Given the description of an element on the screen output the (x, y) to click on. 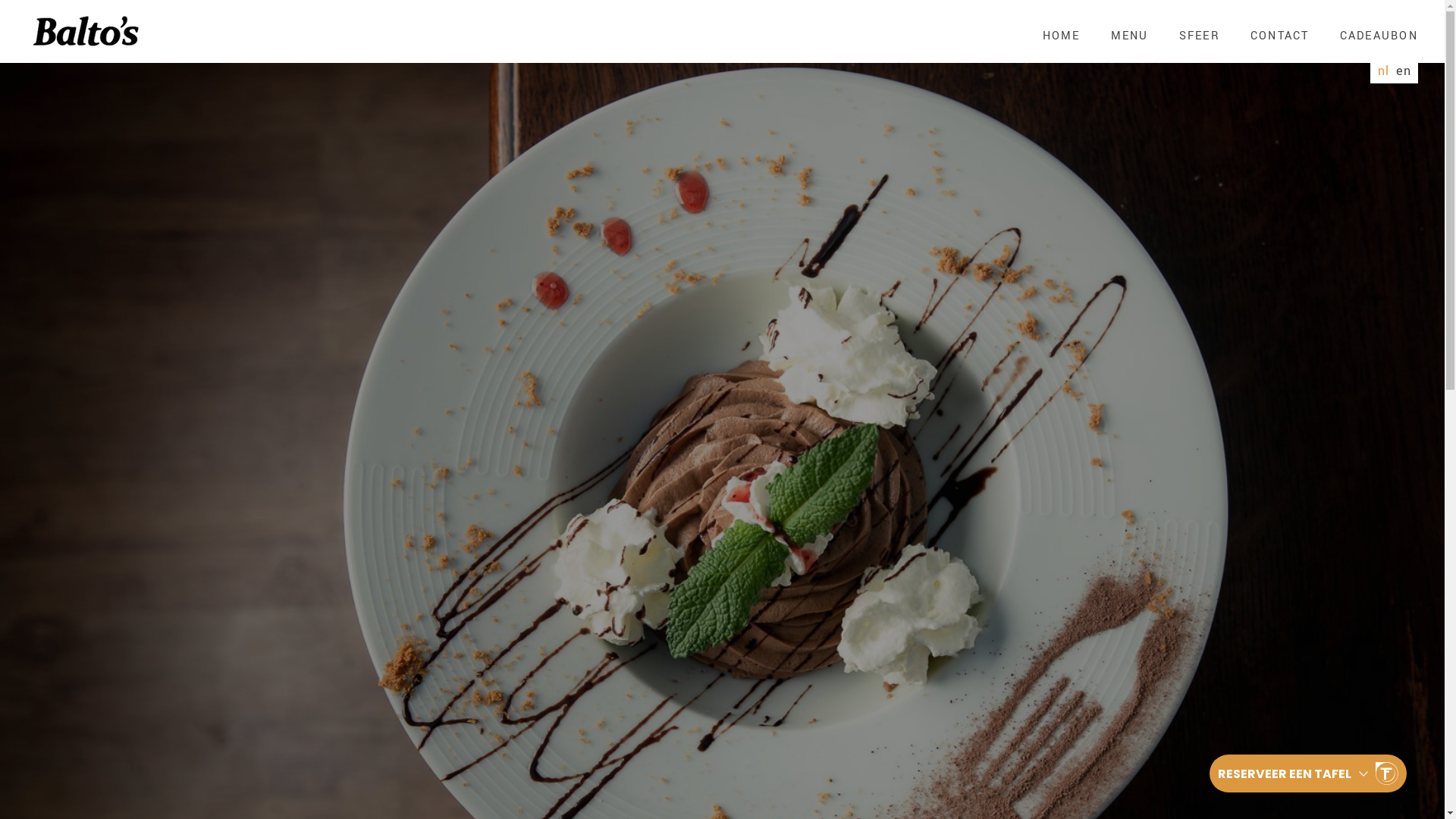
HOME Element type: text (1061, 35)
CADEAUBON Element type: text (1378, 35)
MENU Element type: text (1129, 35)
en Element type: text (1403, 71)
nl Element type: text (1382, 71)
SFEER Element type: text (1199, 35)
CONTACT Element type: text (1279, 35)
